Given the description of an element on the screen output the (x, y) to click on. 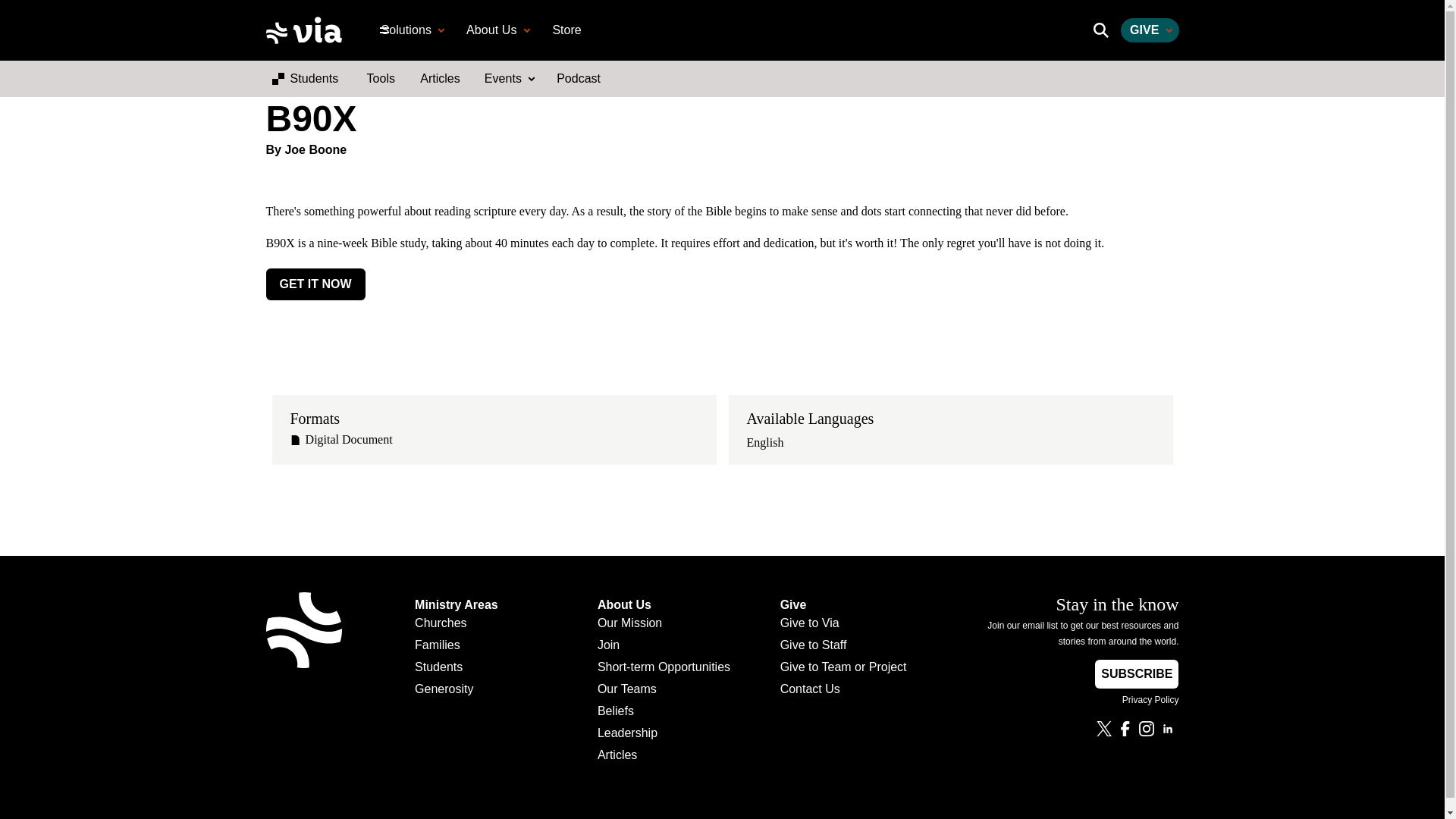
Leadership (663, 735)
Give to Team or Project (843, 669)
SUBSCRIBE (1135, 674)
Solutions (411, 30)
Privacy Policy (1069, 700)
Students (455, 669)
B90X (720, 118)
Articles (439, 78)
Short-term Opportunities (663, 669)
Articles (663, 757)
About Us (496, 30)
Events (508, 78)
Podcast (578, 78)
GET IT NOW (314, 284)
Contact Us (843, 691)
